Given the description of an element on the screen output the (x, y) to click on. 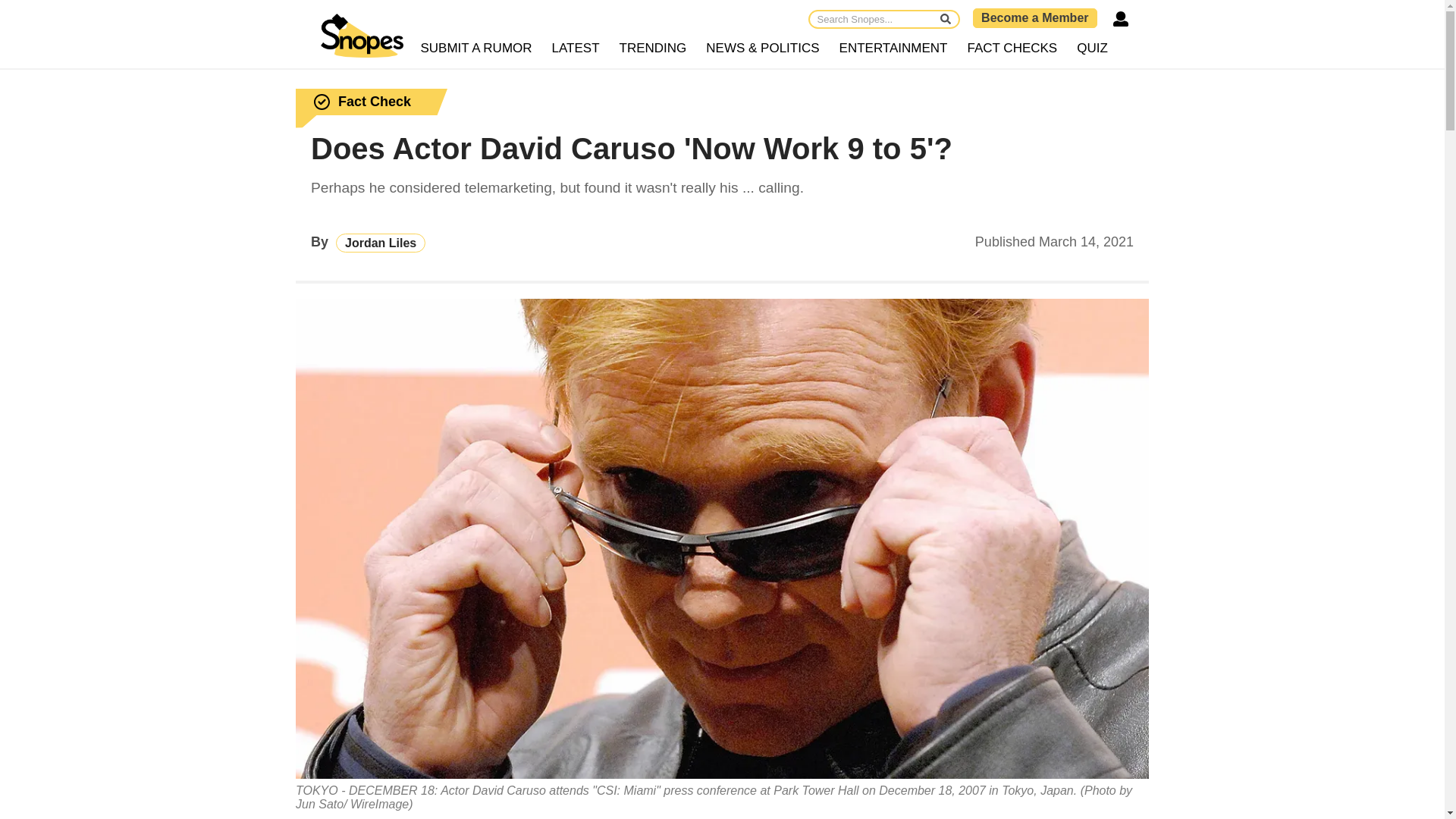
LATEST (576, 47)
QUIZ (1092, 47)
Jordan Liles (380, 242)
SUBMIT A RUMOR (475, 47)
TRENDING (653, 47)
FACT CHECKS (1011, 47)
ENTERTAINMENT (893, 47)
Become a Member (1034, 17)
